Given the description of an element on the screen output the (x, y) to click on. 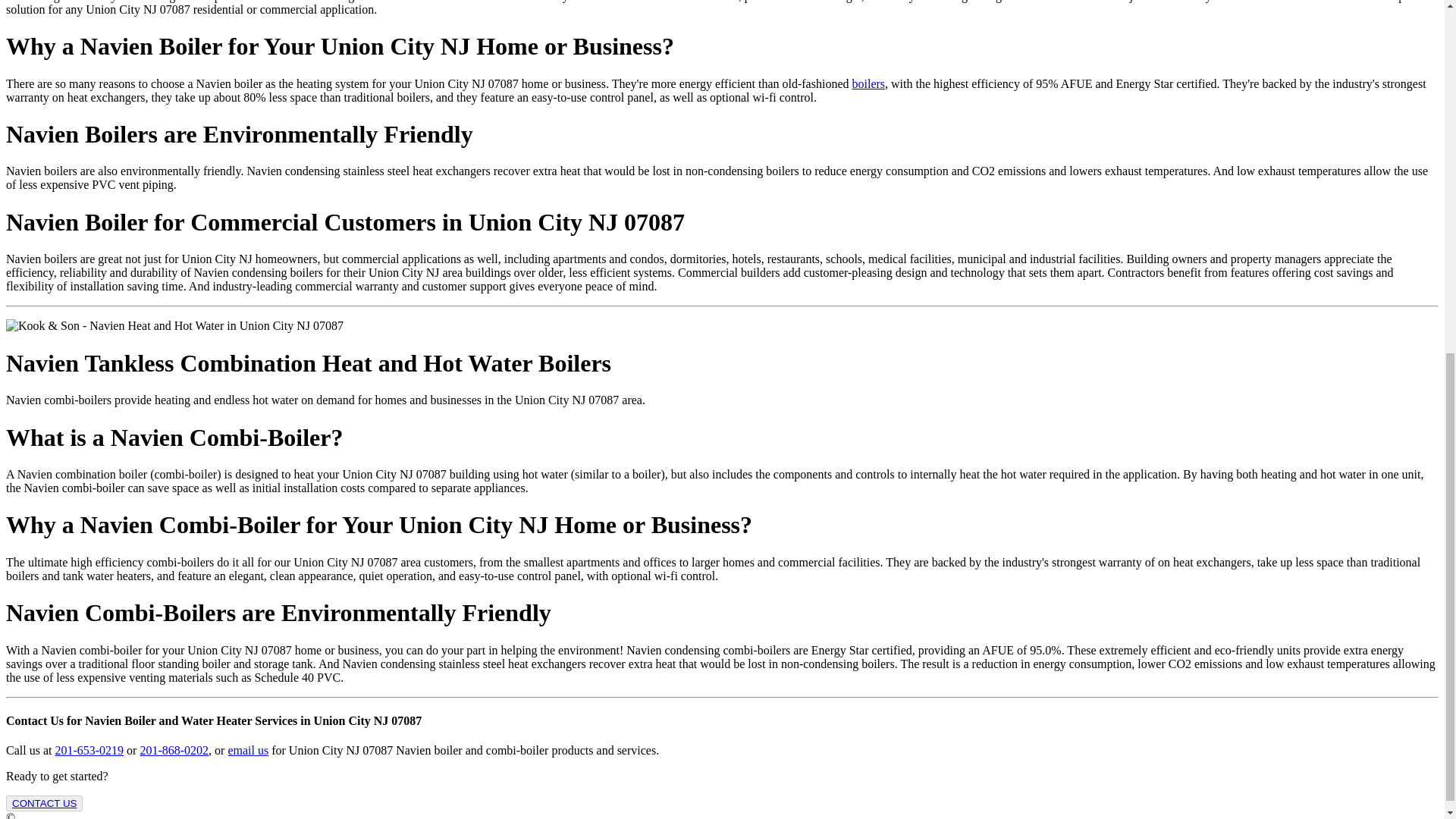
201-653-0219 (89, 749)
boilers (868, 83)
CONTACT US (44, 803)
201-868-0202 (173, 749)
email us (247, 749)
CONTACT US (43, 803)
